Given the description of an element on the screen output the (x, y) to click on. 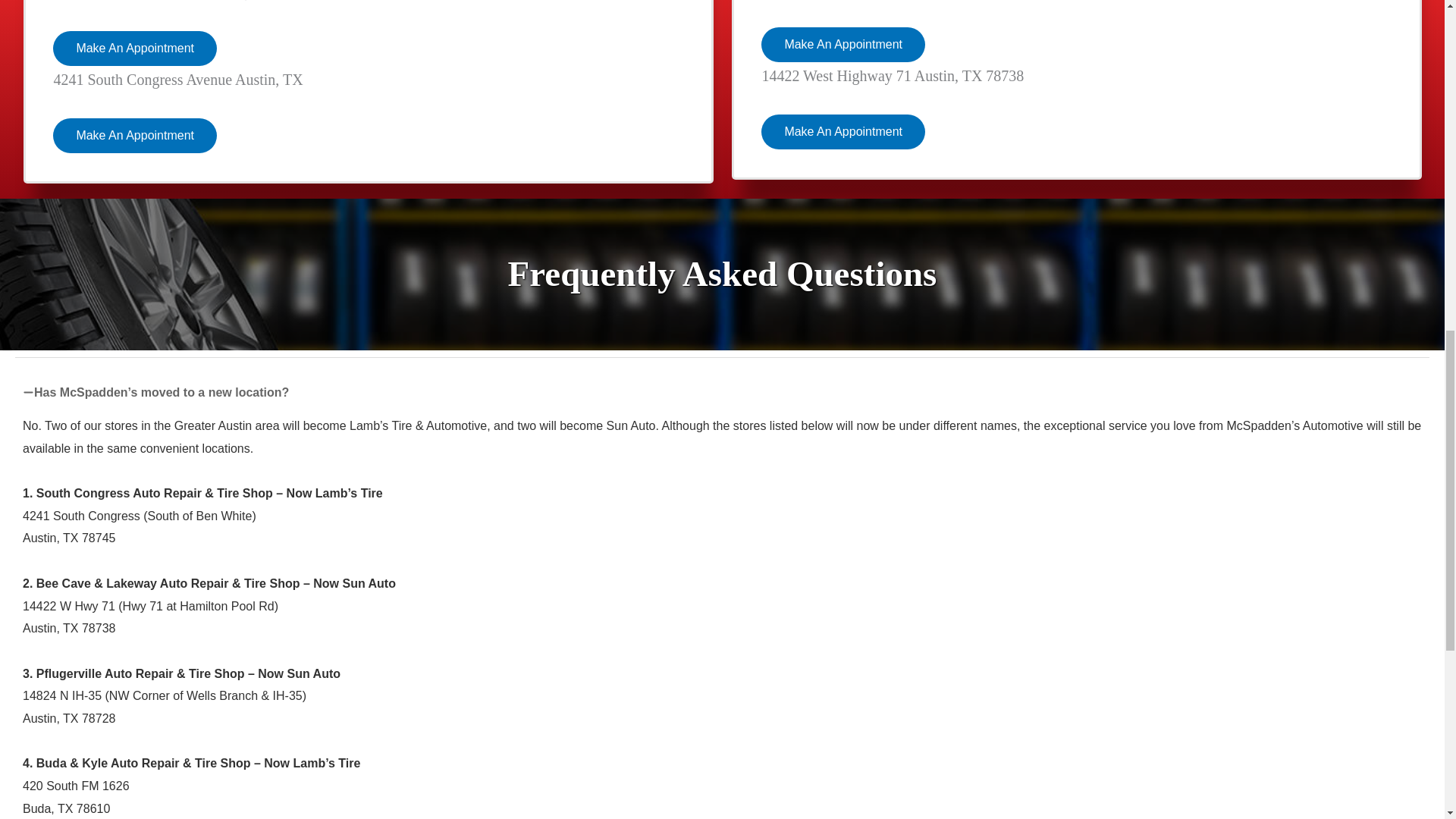
Make An Appointment (842, 44)
Make An Appointment (134, 135)
Make An Appointment (134, 48)
Make An Appointment (842, 131)
